Given the description of an element on the screen output the (x, y) to click on. 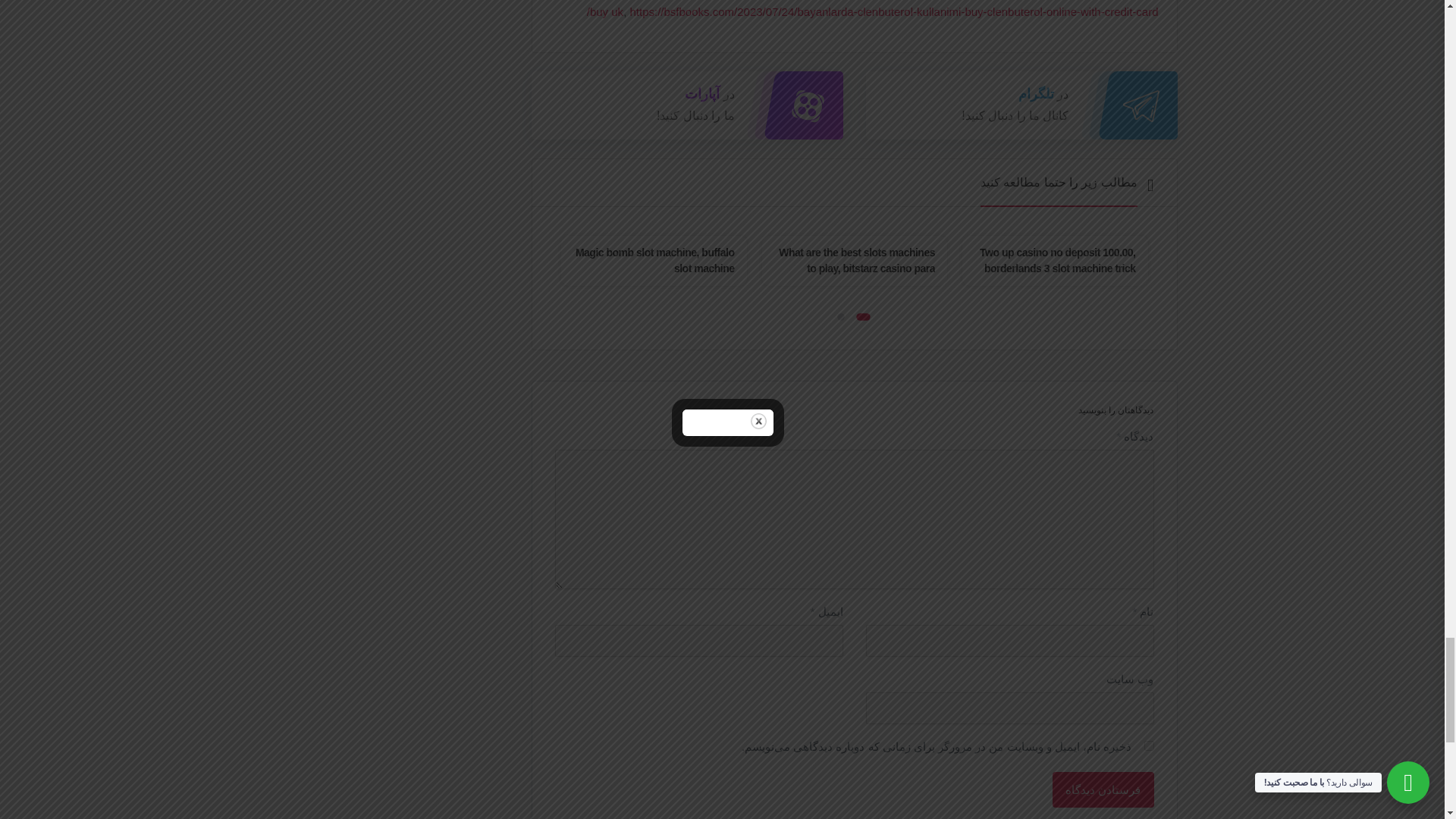
Magic bomb slot machine, buffalo slot machine (655, 260)
yes (1147, 746)
Clenbuterol to buy uk (873, 9)
